Given the description of an element on the screen output the (x, y) to click on. 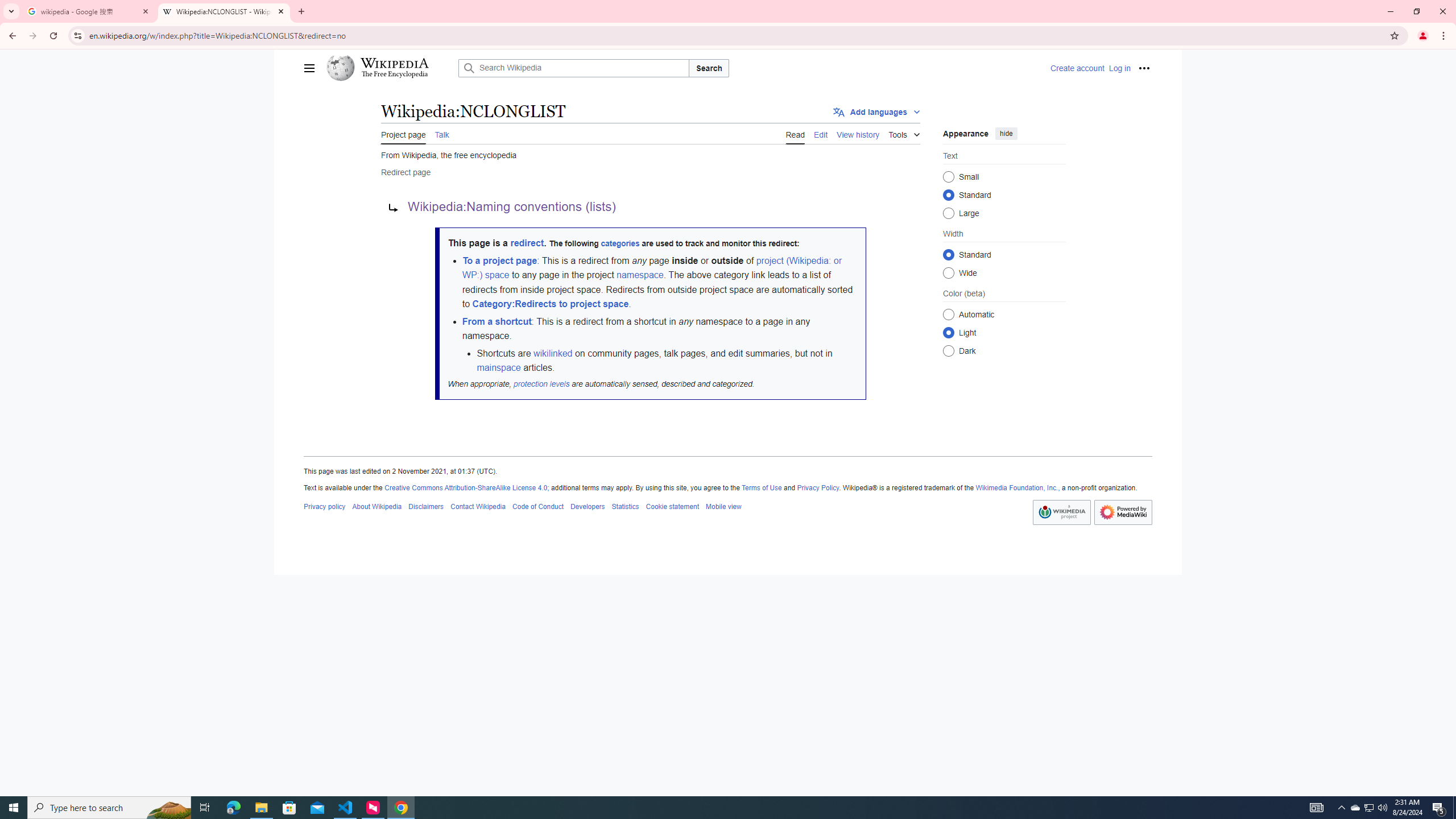
AutomationID: footer-info-lastmod (727, 471)
Wikipedia (395, 62)
AutomationID: pt-createaccount-2 (1077, 67)
AutomationID: footer-places-cookiestatement (671, 506)
AutomationID: footer-places-wm-codeofconduct (537, 506)
wikilinked (552, 353)
Disclaimers (425, 506)
Terms of Use (761, 488)
Bookmark this tab (1393, 35)
Back (10, 35)
Search tabs (10, 11)
Small (948, 176)
Create account (1077, 67)
Project page (403, 133)
